Given the description of an element on the screen output the (x, y) to click on. 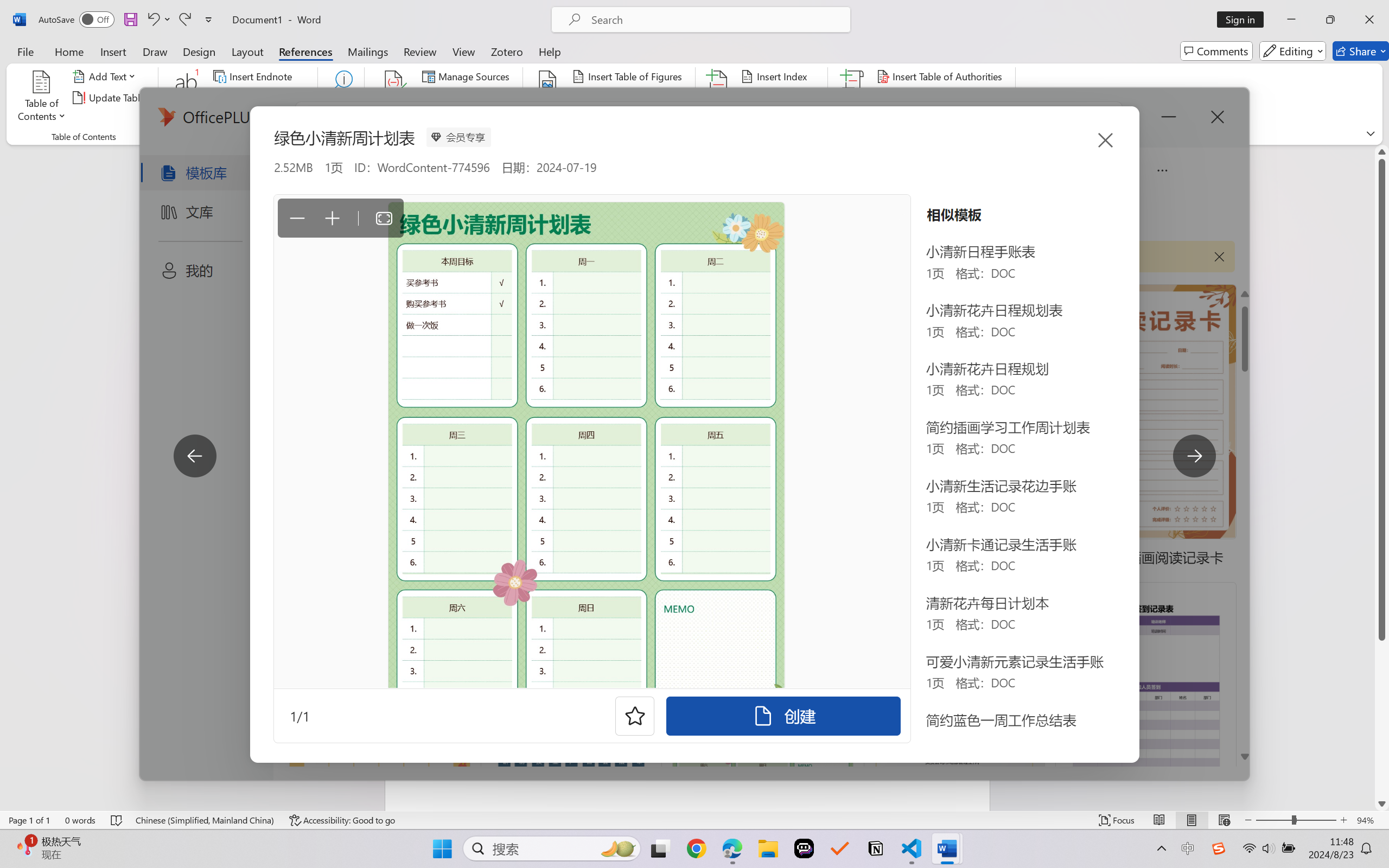
Insert Table of Authorities... (941, 75)
Add Text (106, 75)
Update Table (914, 97)
Insert Footnote (186, 97)
Mark Citation... (852, 97)
Sign in (1244, 19)
Next Footnote (253, 97)
Line down (1382, 803)
Language Chinese (Simplified, Mainland China) (205, 819)
Manage Sources... (467, 75)
